Given the description of an element on the screen output the (x, y) to click on. 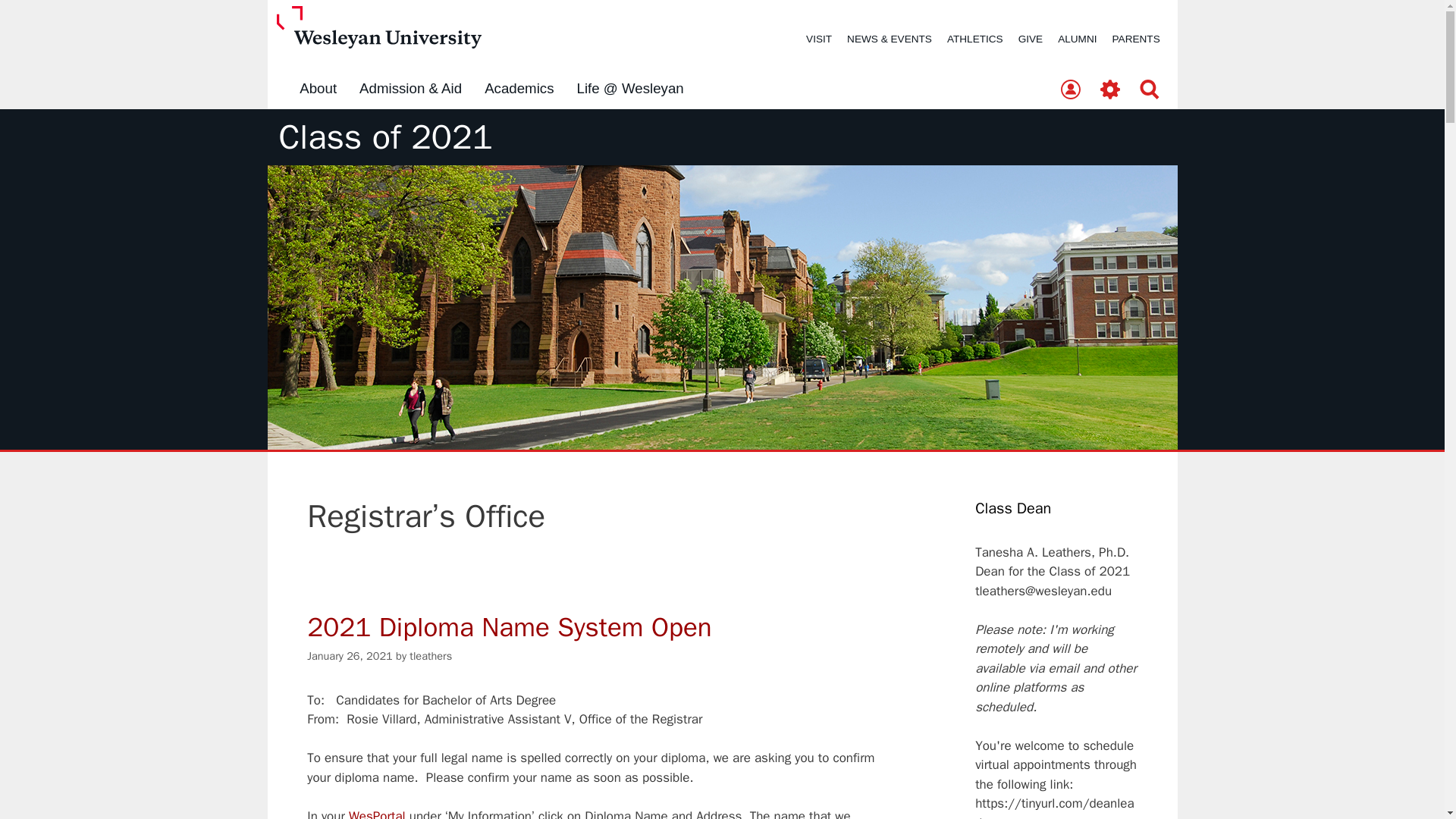
2021 Diploma Name System Open (509, 626)
ALUMNI (1076, 39)
tleathers (430, 655)
Class of 2021 (386, 137)
About (317, 89)
Search (1149, 90)
PARENTS (1136, 39)
View all posts by tleathers (430, 655)
Directory (1069, 90)
Academics (518, 89)
Tools (1109, 90)
VISIT (818, 39)
GIVE (1029, 39)
ATHLETICS (974, 39)
WesPortal (377, 813)
